Given the description of an element on the screen output the (x, y) to click on. 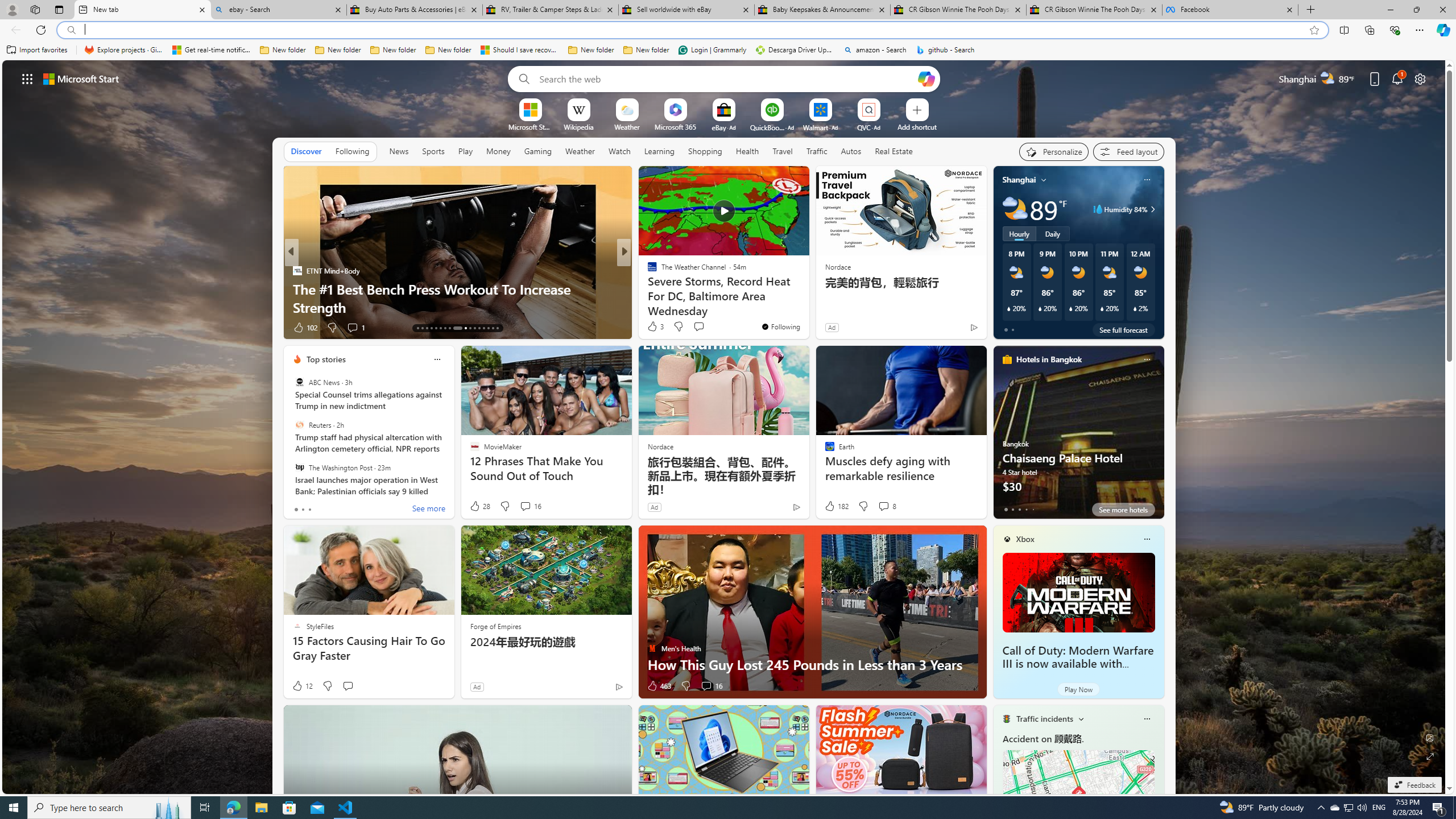
Play Now (1078, 689)
View comments 8 Comment (883, 505)
Las Vegas Strip visitors face outrageous new fee (807, 307)
Partly cloudy (1014, 208)
Hide this story (774, 179)
28 Like (479, 505)
Xbox (1025, 538)
